Given the description of an element on the screen output the (x, y) to click on. 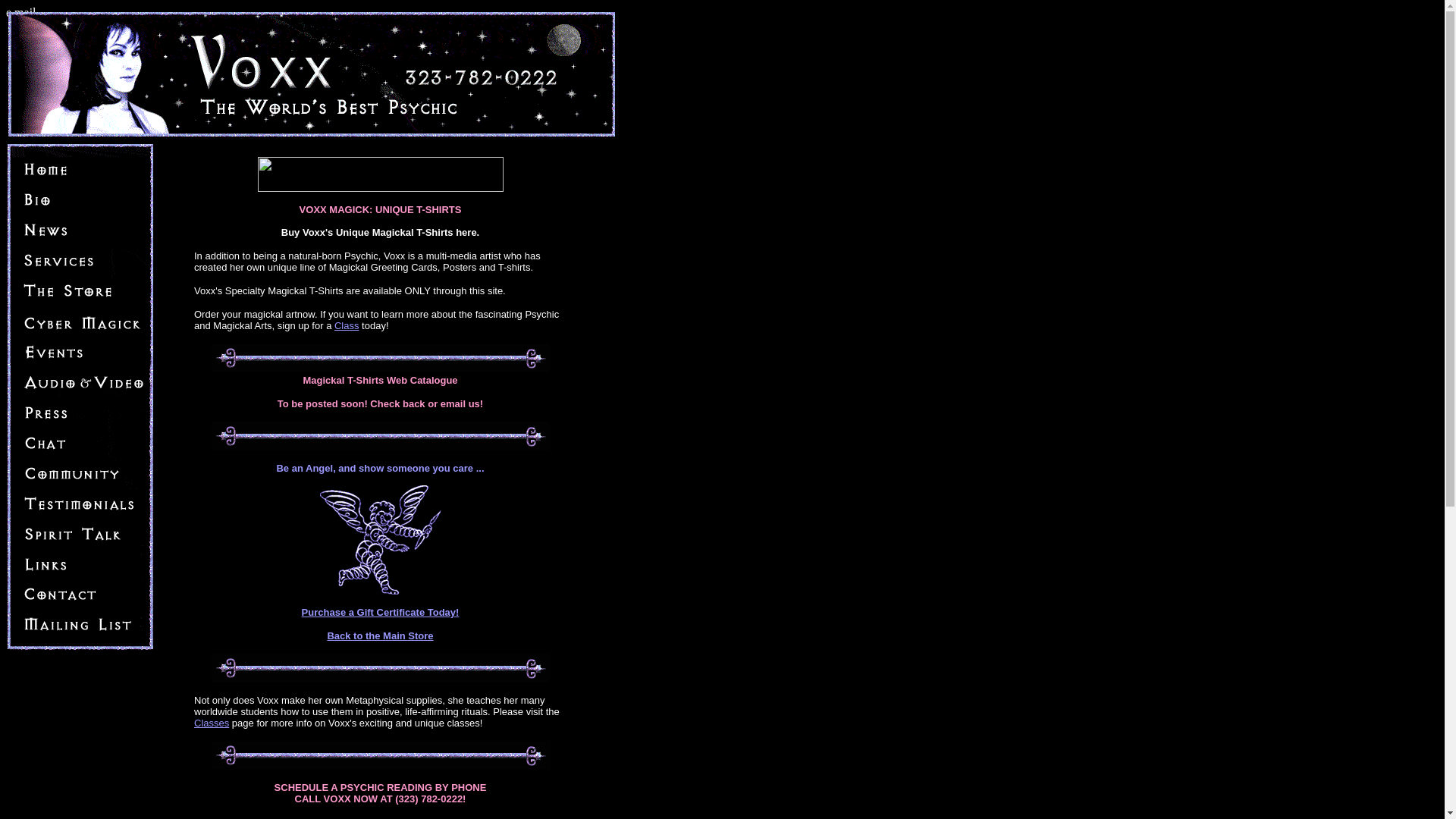
Back to the Main Store (379, 635)
Classes (210, 722)
Class (346, 325)
e-mail (240, 817)
Purchase a Gift Certificate Today! (380, 612)
